Given the description of an element on the screen output the (x, y) to click on. 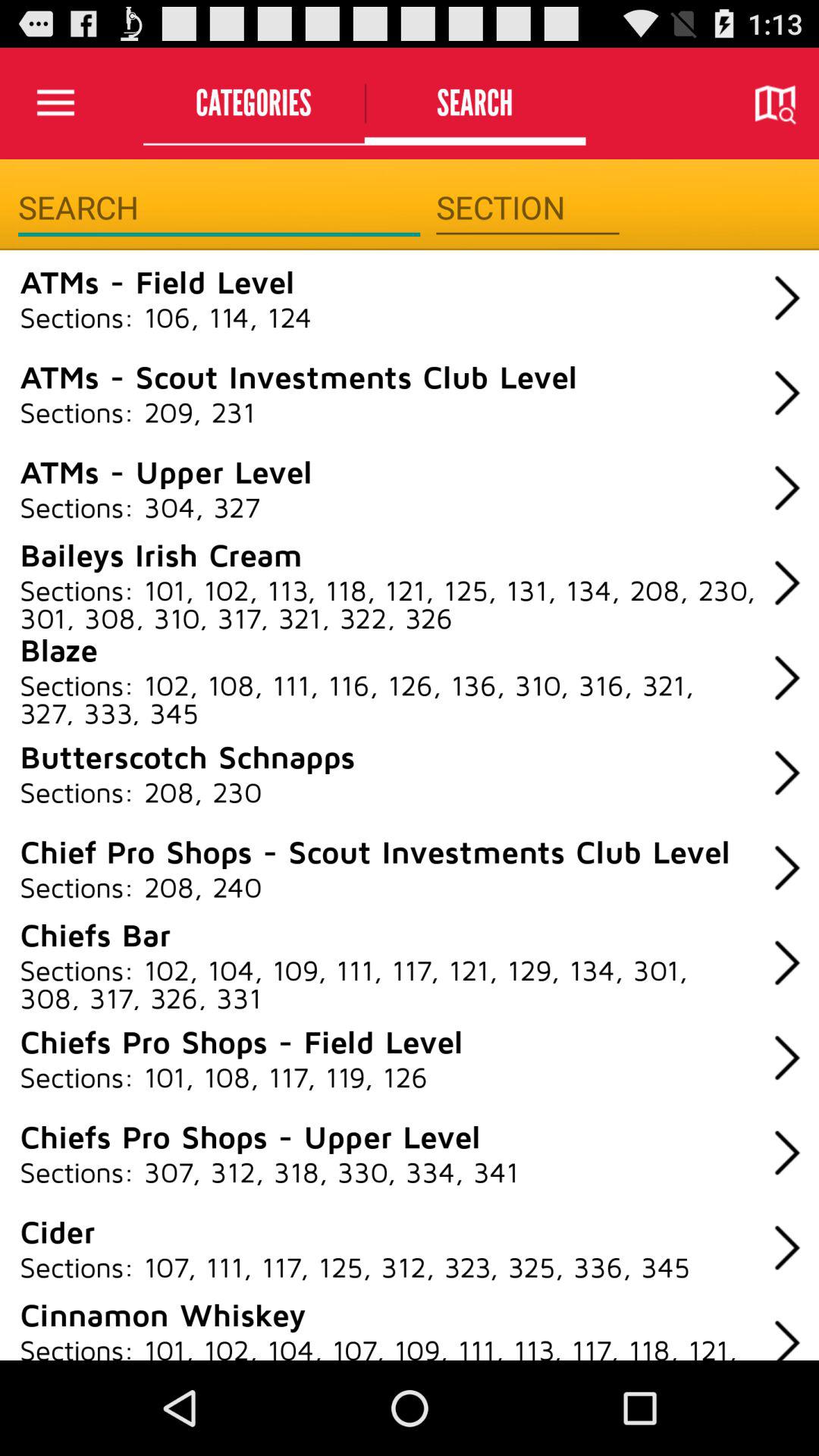
section filter (527, 207)
